Given the description of an element on the screen output the (x, y) to click on. 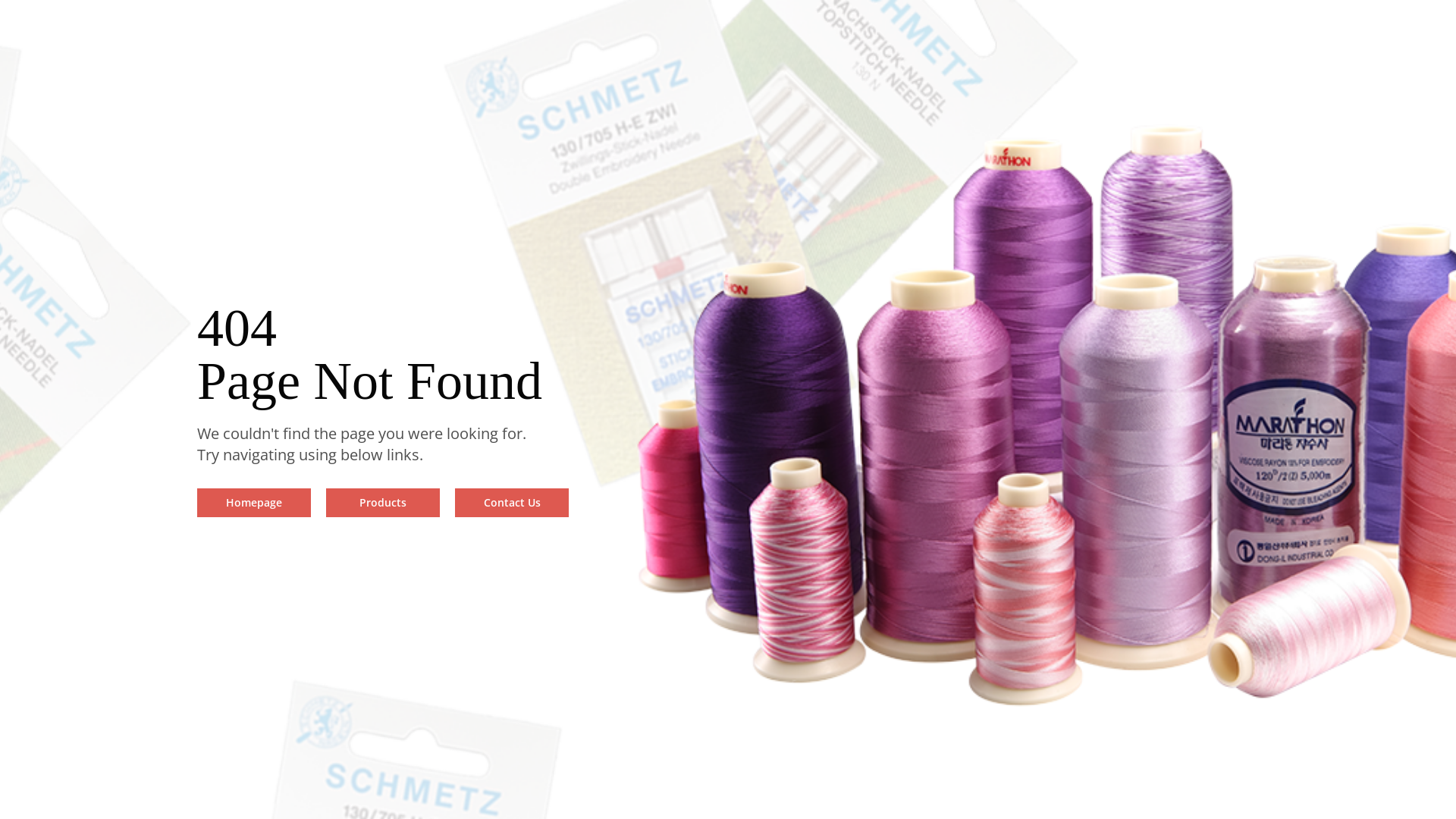
Contact Us Element type: text (511, 502)
Homepage Element type: text (253, 502)
Products Element type: text (382, 502)
